Given the description of an element on the screen output the (x, y) to click on. 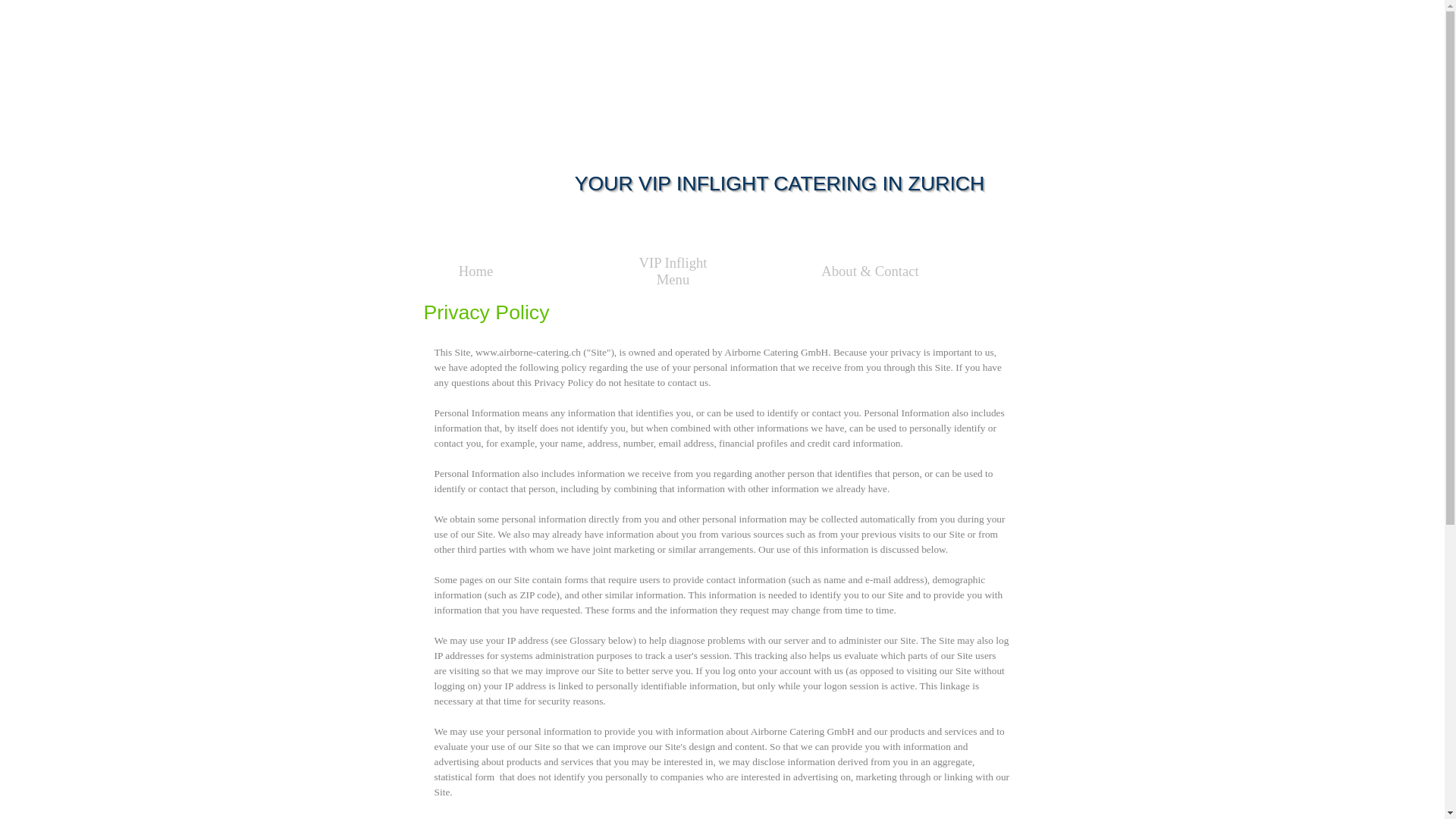
Home Element type: text (475, 270)
About & Contact Element type: text (869, 270)
VIP Inflight Menu Element type: text (672, 270)
